Given the description of an element on the screen output the (x, y) to click on. 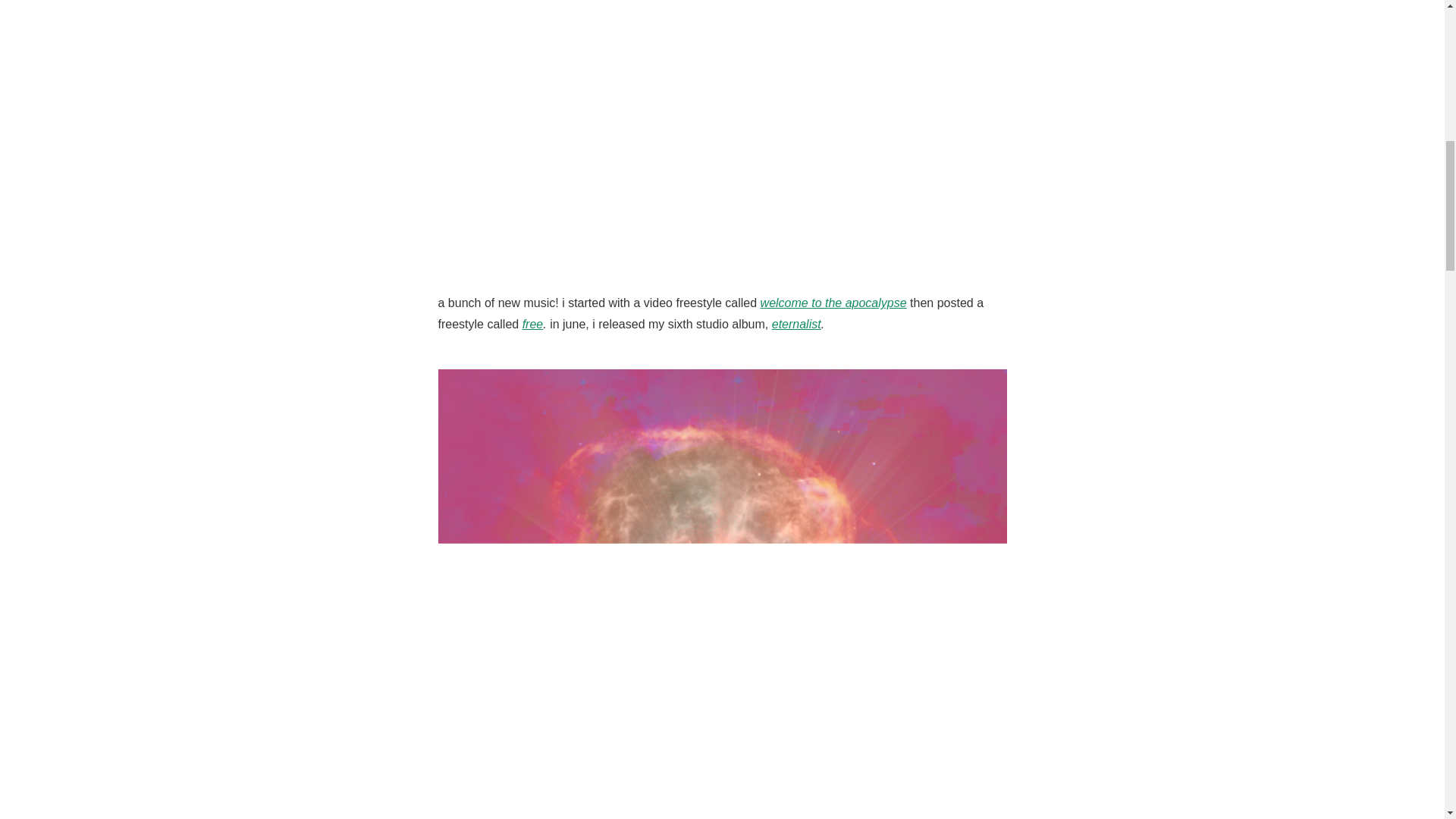
welcome to the apocalypse (833, 302)
eternalist (796, 323)
free (532, 323)
